Given the description of an element on the screen output the (x, y) to click on. 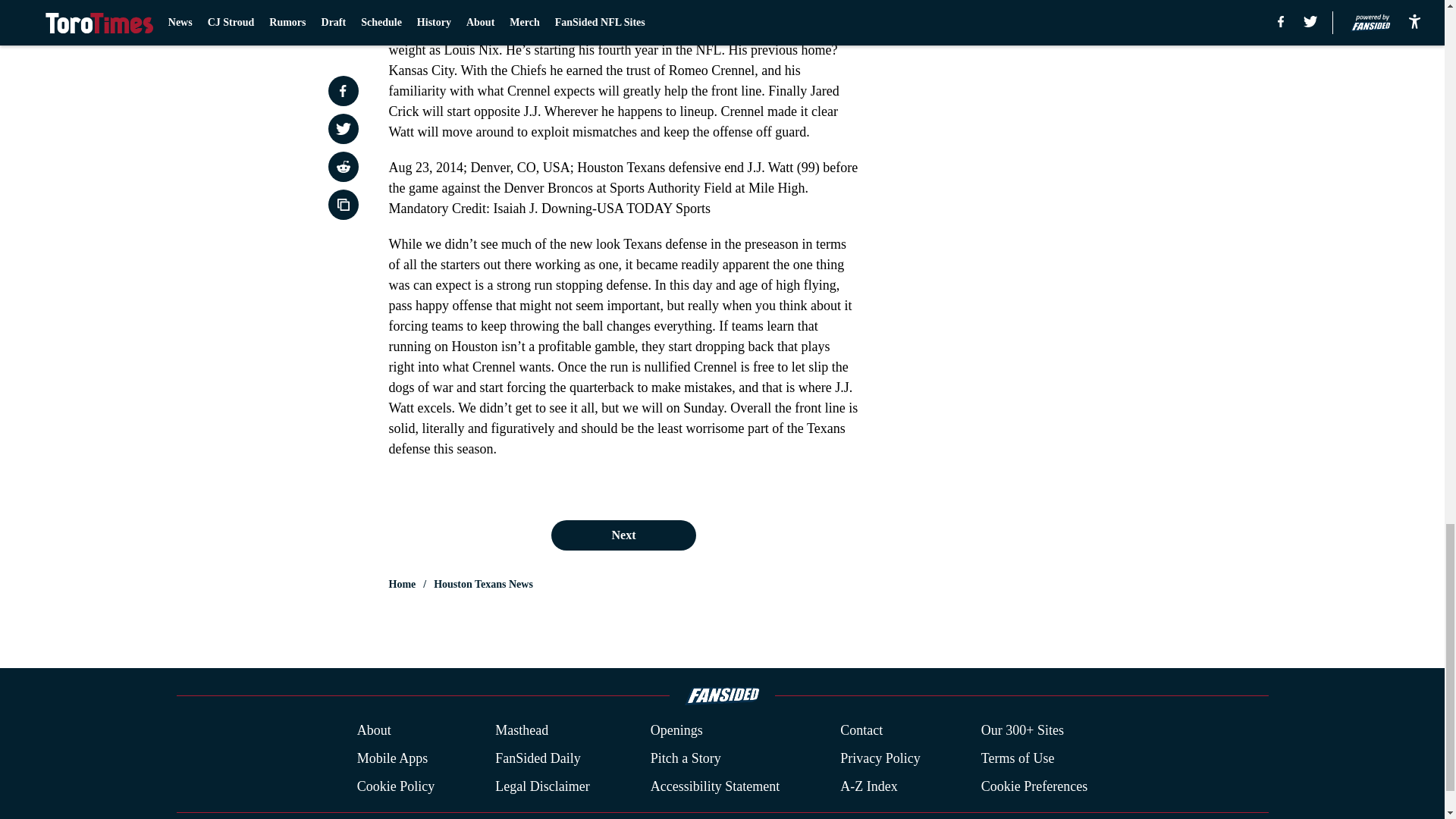
Home (401, 584)
Contact (861, 730)
Masthead (521, 730)
Mobile Apps (392, 758)
FanSided Daily (537, 758)
Houston Texans News (482, 584)
About (373, 730)
Next (622, 535)
Openings (676, 730)
